Given the description of an element on the screen output the (x, y) to click on. 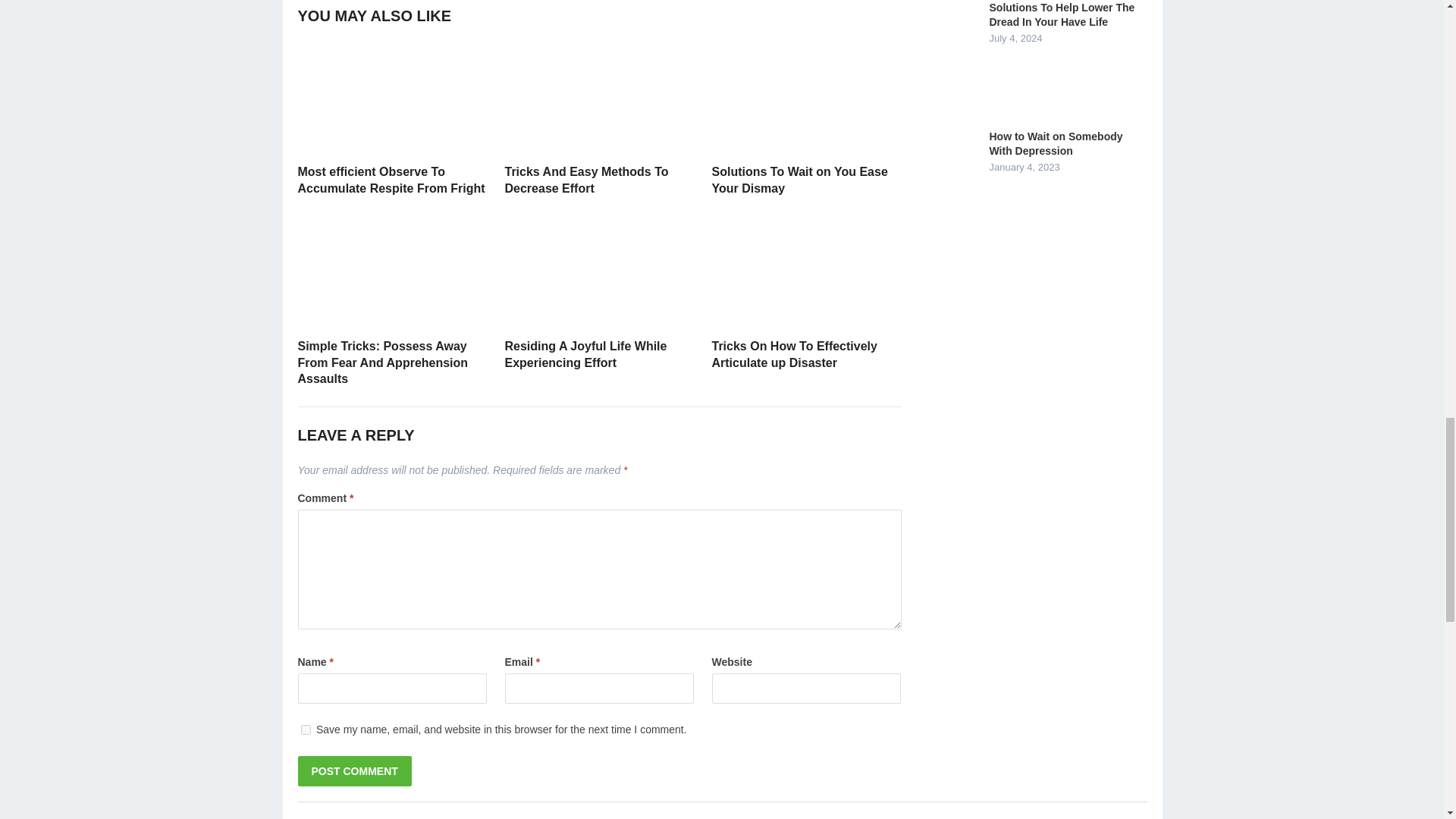
Post Comment (353, 770)
yes (304, 729)
